Given the description of an element on the screen output the (x, y) to click on. 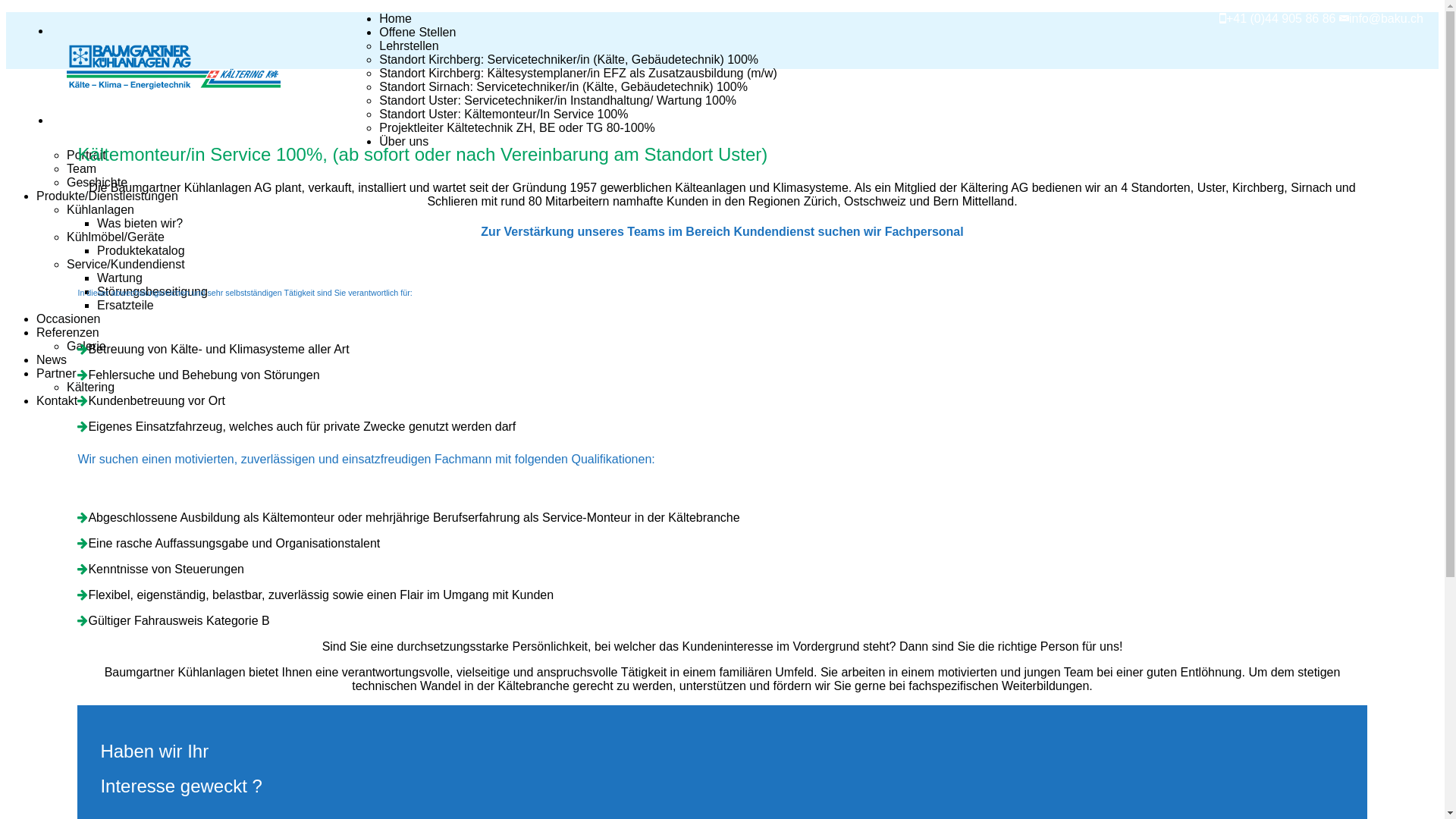
Geschichte Element type: text (96, 182)
Partner Element type: text (55, 373)
Offene Stellen Element type: text (417, 32)
Was bieten wir? Element type: text (139, 223)
Service/Kundendienst Element type: text (125, 264)
Wartung Element type: text (119, 278)
Home Element type: hover (215, 68)
Produktekatalog Element type: text (141, 250)
Menu Element type: text (66, 121)
Produkte/Dienstleistungen Element type: text (107, 196)
Referenzen Element type: text (67, 332)
Home Element type: text (395, 18)
Galerie Element type: text (86, 346)
Ersatzteile Element type: text (125, 305)
Lehrstellen Element type: text (408, 46)
Team Element type: text (81, 168)
Portrait Element type: text (86, 155)
Occasionen Element type: text (68, 319)
Kontakt Element type: text (56, 400)
News Element type: text (51, 360)
